Given the description of an element on the screen output the (x, y) to click on. 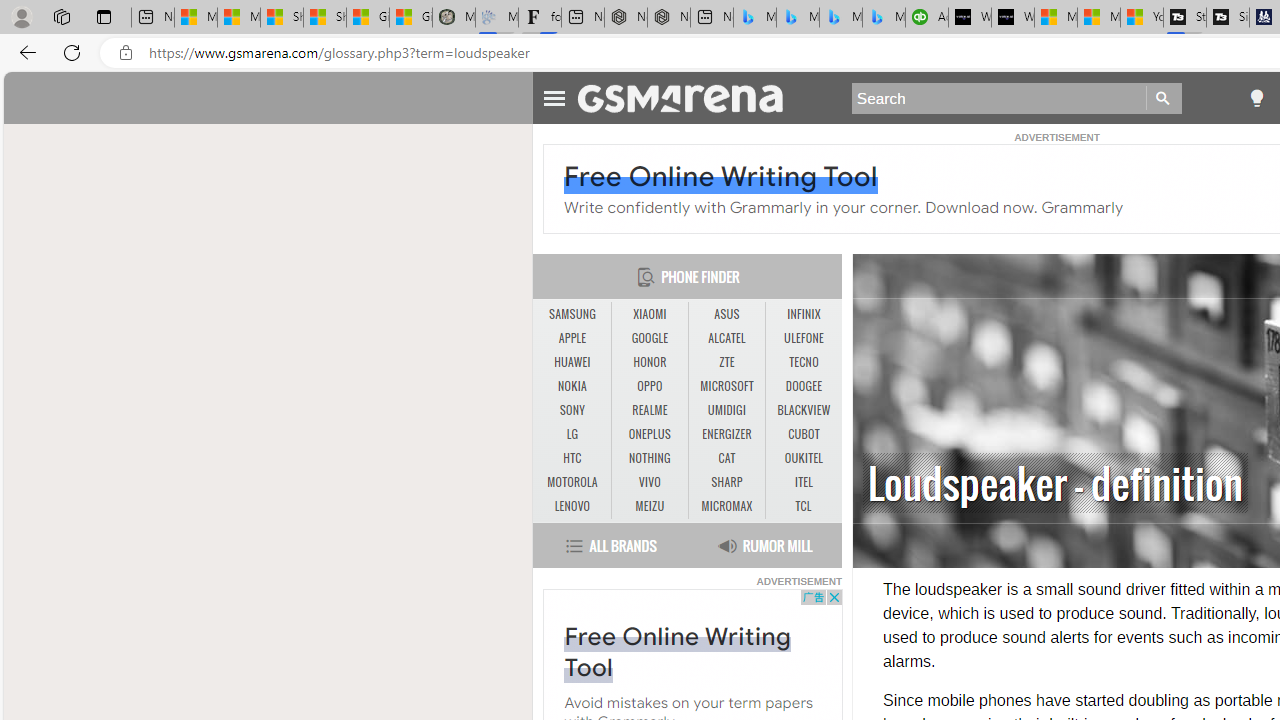
NOTHING (649, 457)
DOOGEE (803, 385)
MICROMAX (726, 506)
LG (571, 434)
TCL (802, 506)
ZTE (726, 362)
HUAWEI (571, 362)
ULEFONE (803, 339)
ALCATEL (726, 339)
SONY (571, 410)
VIVO (649, 482)
